Given the description of an element on the screen output the (x, y) to click on. 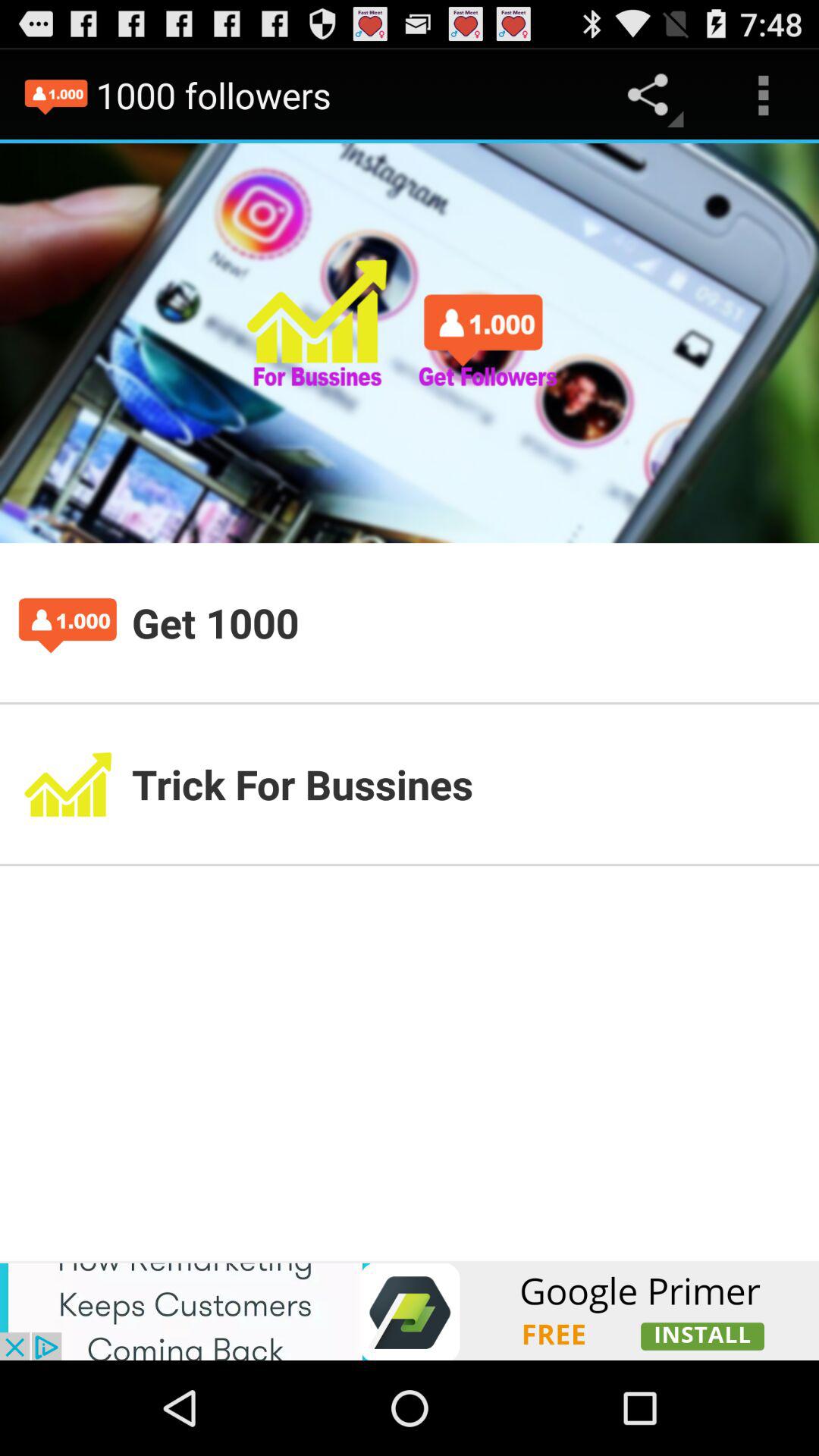
adverts (409, 1310)
